Given the description of an element on the screen output the (x, y) to click on. 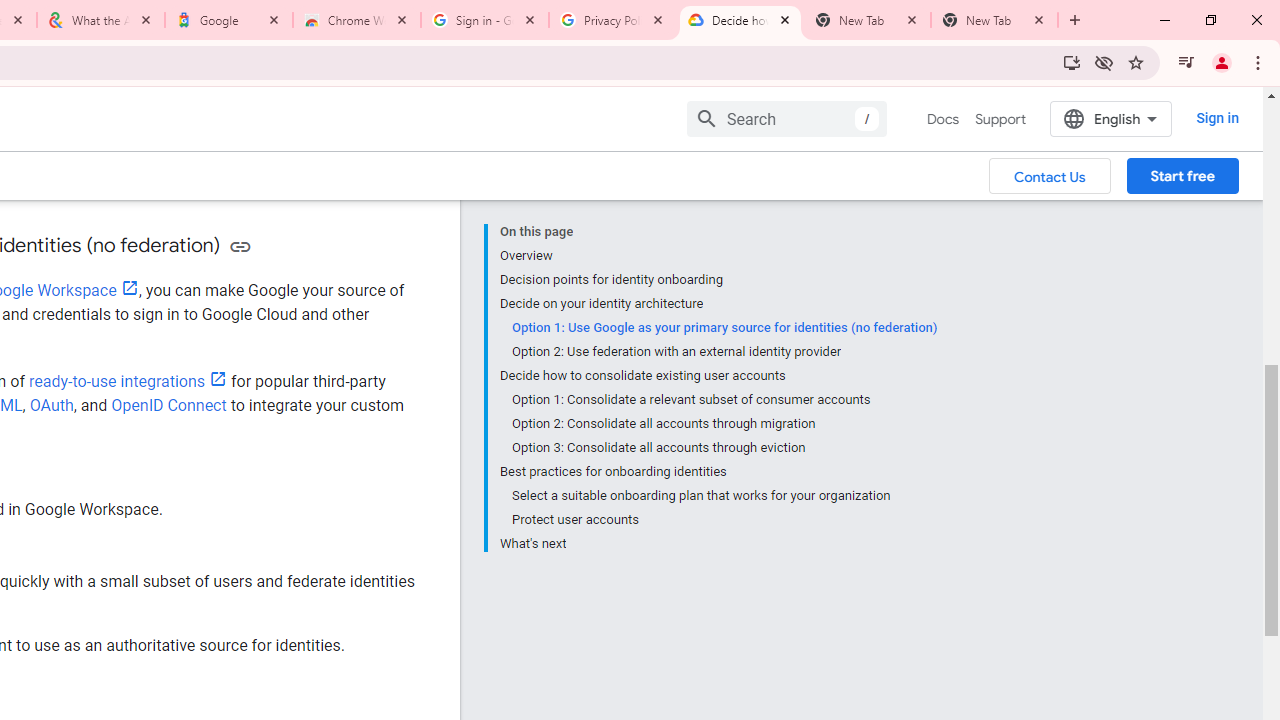
Docs, selected (942, 119)
Google (229, 20)
Control your music, videos, and more (1185, 62)
Option 2: Use federation with an external identity provider (723, 351)
Best practices for onboarding identities (717, 471)
Search (786, 118)
Option 3: Consolidate all accounts through eviction (723, 448)
Support (1000, 119)
Sign in - Google Accounts (485, 20)
Option 2: Consolidate all accounts through migration (723, 423)
Protect user accounts (723, 520)
Option 1: Consolidate a relevant subset of consumer accounts (723, 399)
